Given the description of an element on the screen output the (x, y) to click on. 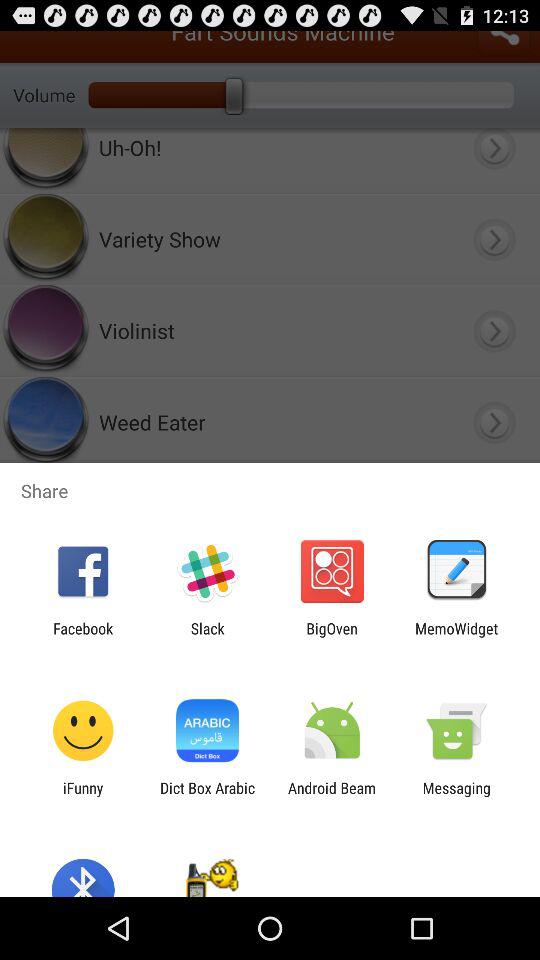
choose the item to the left of slack item (83, 637)
